Given the description of an element on the screen output the (x, y) to click on. 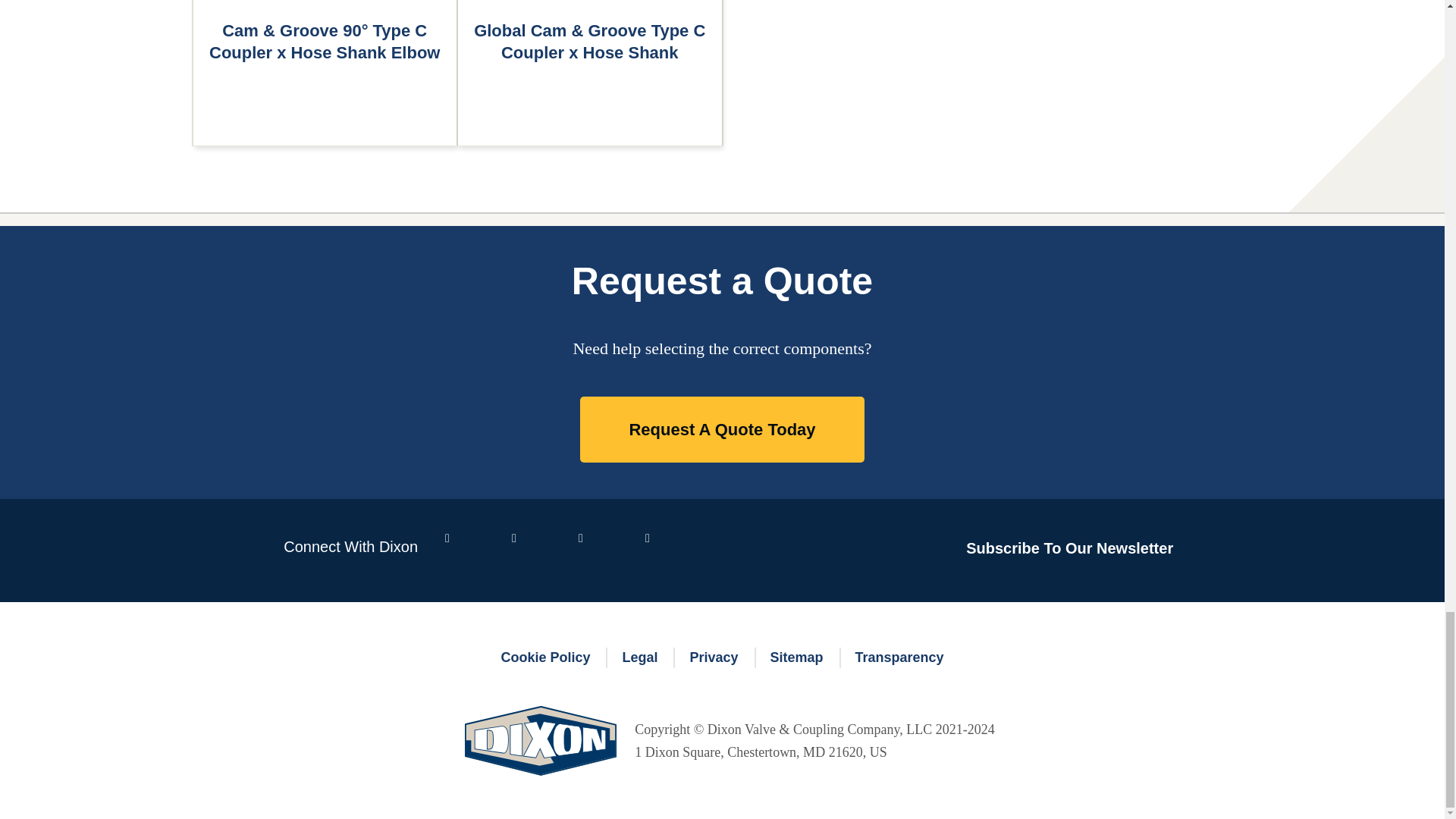
Home (539, 752)
Youtube Channel (599, 550)
LinkedIn (533, 550)
Facebook (466, 550)
Instagram (666, 550)
Legal Page (638, 657)
